Given the description of an element on the screen output the (x, y) to click on. 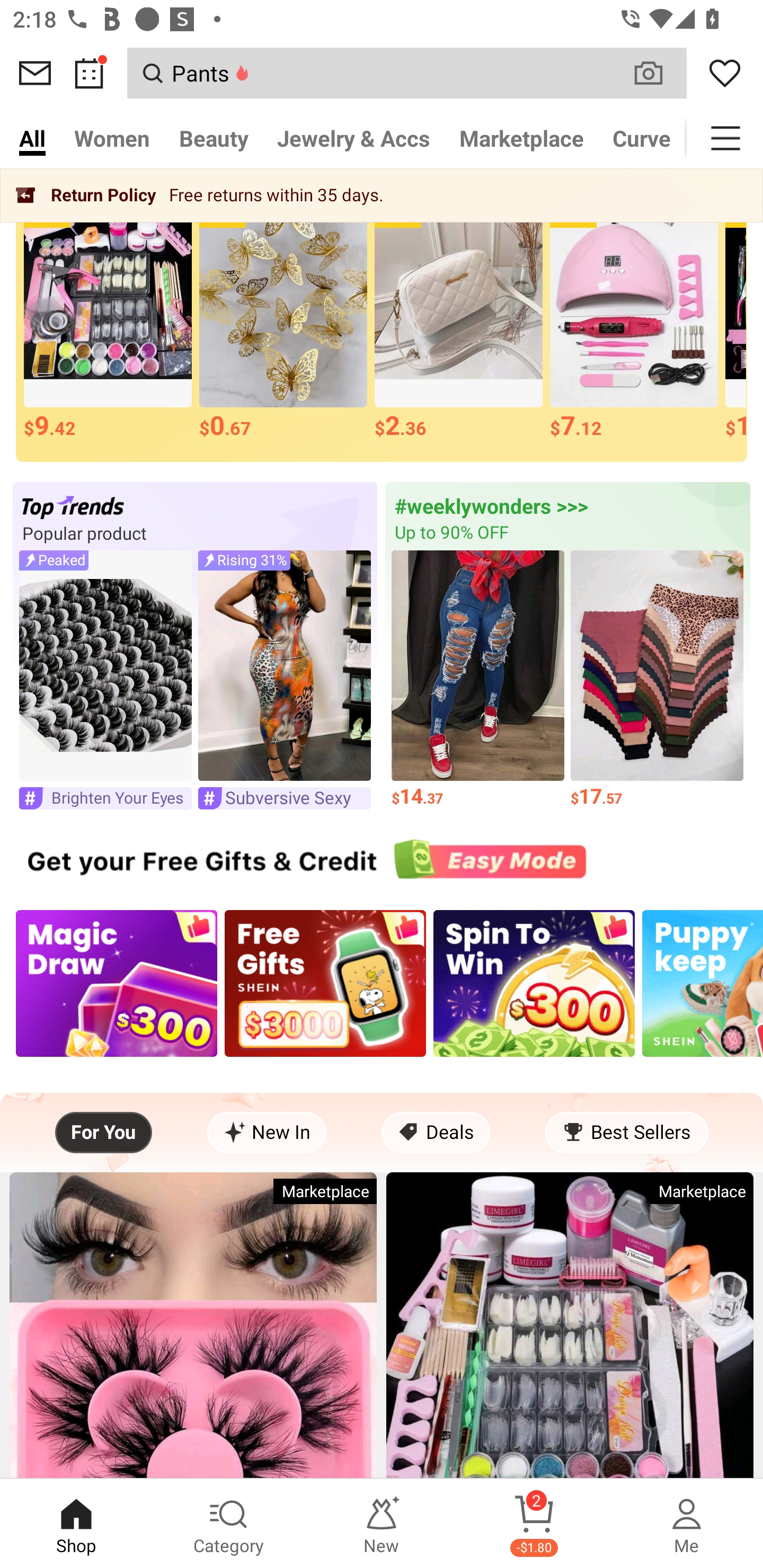
Wishlist (724, 72)
VISUAL SEARCH (657, 72)
All (31, 137)
Women (111, 137)
Beauty (213, 137)
Jewelry & Accs (353, 137)
Marketplace (521, 137)
Curve (641, 137)
Return Policy   Free returns within 35 days. (381, 194)
Peaked Brighten Your Eyes (105, 679)
Rising 31% Subversive Sexy (284, 679)
$14.37 Price $14.37 (477, 679)
$17.57 Price $17.57 (656, 679)
New In (266, 1132)
Deals (435, 1132)
Best Sellers (626, 1132)
Category (228, 1523)
New (381, 1523)
Cart 2 -$1.80 (533, 1523)
Me (686, 1523)
